Given the description of an element on the screen output the (x, y) to click on. 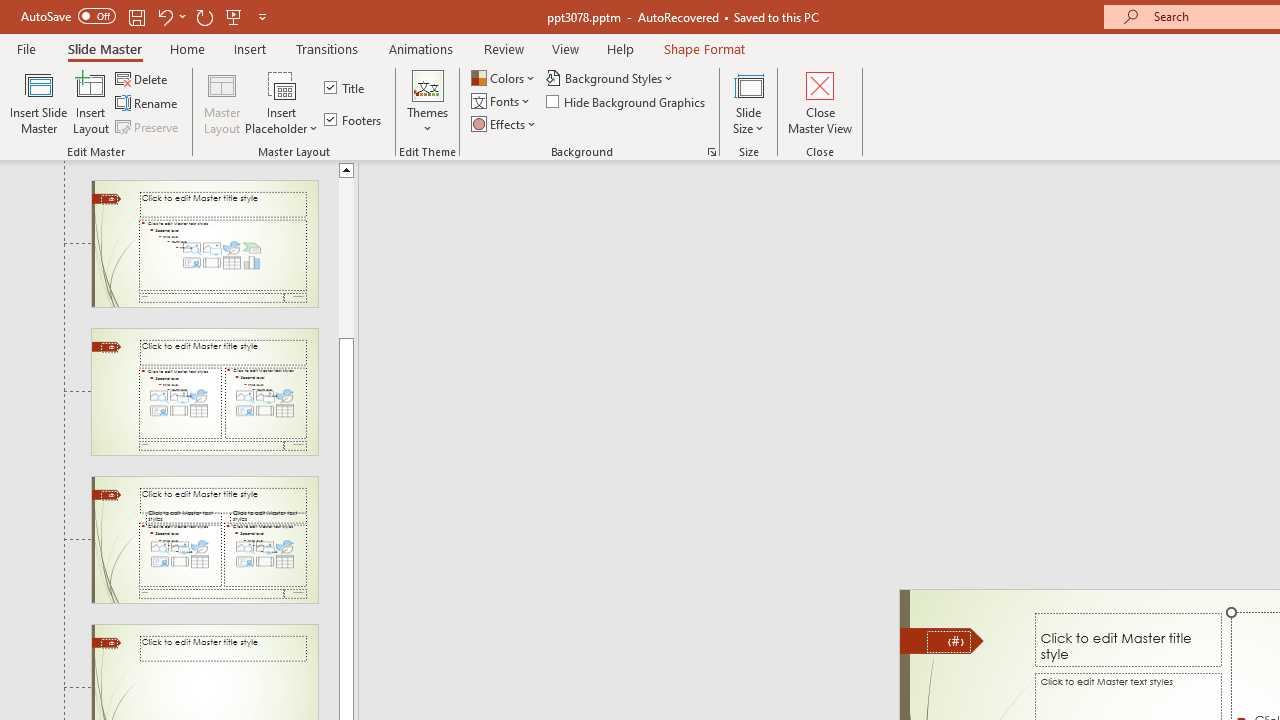
Slide Two Content Layout: used by no slides (204, 392)
Slide Comparison Layout: used by no slides (204, 539)
Rename (148, 103)
Footers (354, 119)
Hide Background Graphics (626, 101)
Format Background... (711, 151)
Insert Layout (91, 102)
